Given the description of an element on the screen output the (x, y) to click on. 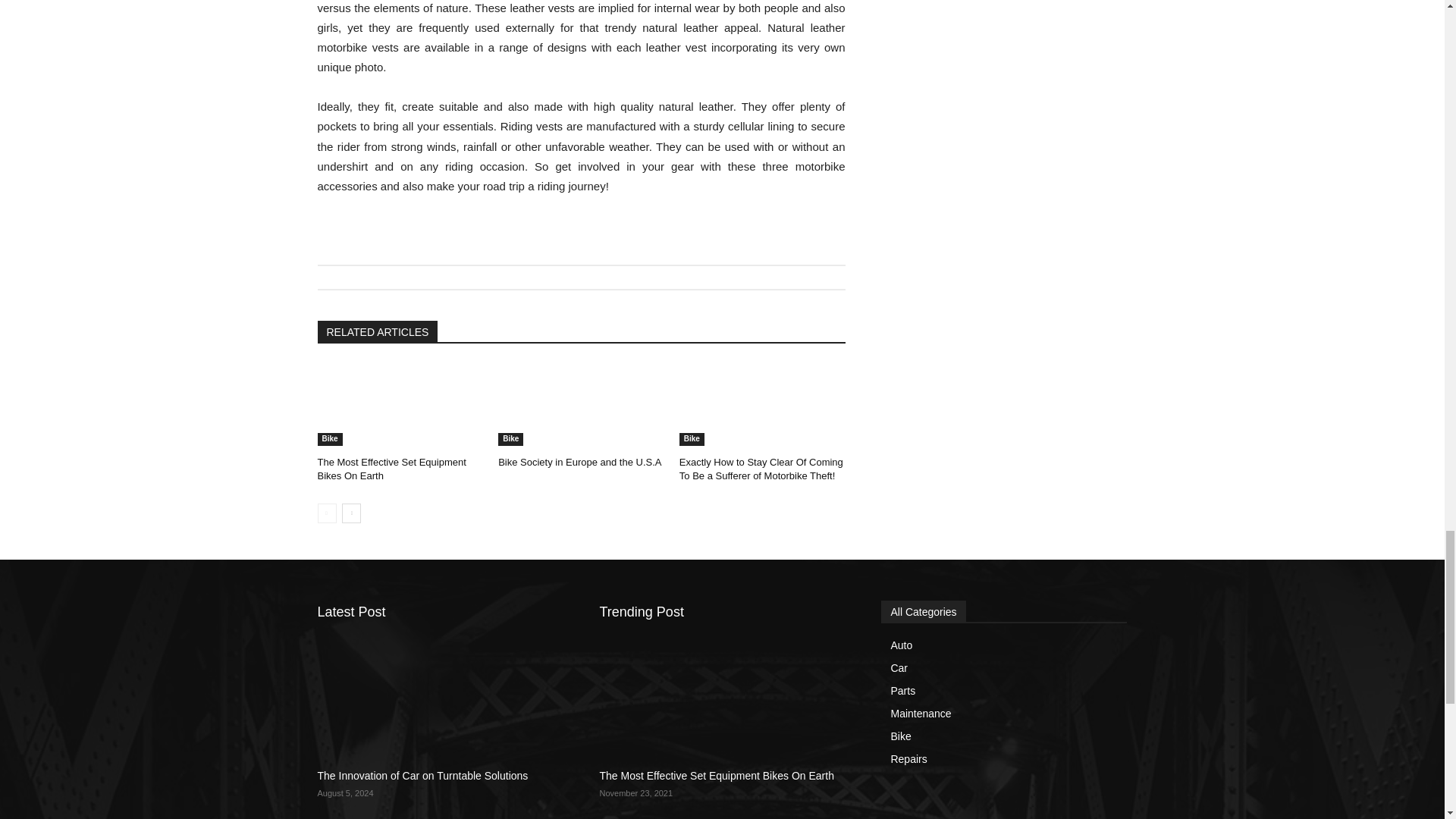
Bike (691, 439)
The Most Effective Set Equipment Bikes On Earth (391, 468)
Bike Society in Europe and the U.S.A (579, 461)
Bike Society in Europe and the U.S.A (579, 461)
The Most Effective Set Equipment Bikes On Earth (391, 468)
Bike Society in Europe and the U.S.A (580, 404)
Bike (509, 439)
Bike (329, 439)
